Given the description of an element on the screen output the (x, y) to click on. 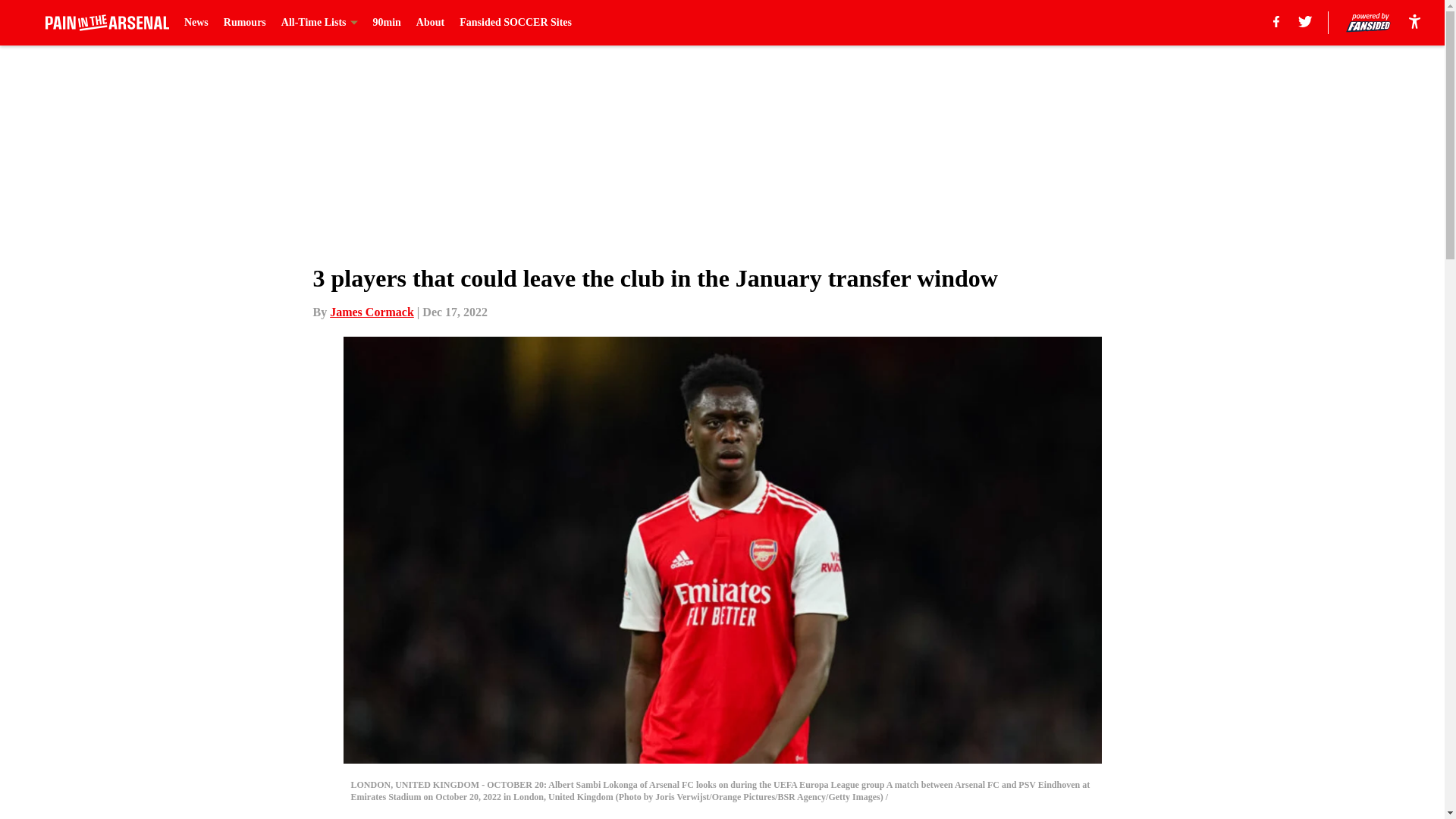
90min (386, 22)
News (196, 22)
James Cormack (371, 311)
Fansided SOCCER Sites (516, 22)
Rumours (245, 22)
About (430, 22)
